Given the description of an element on the screen output the (x, y) to click on. 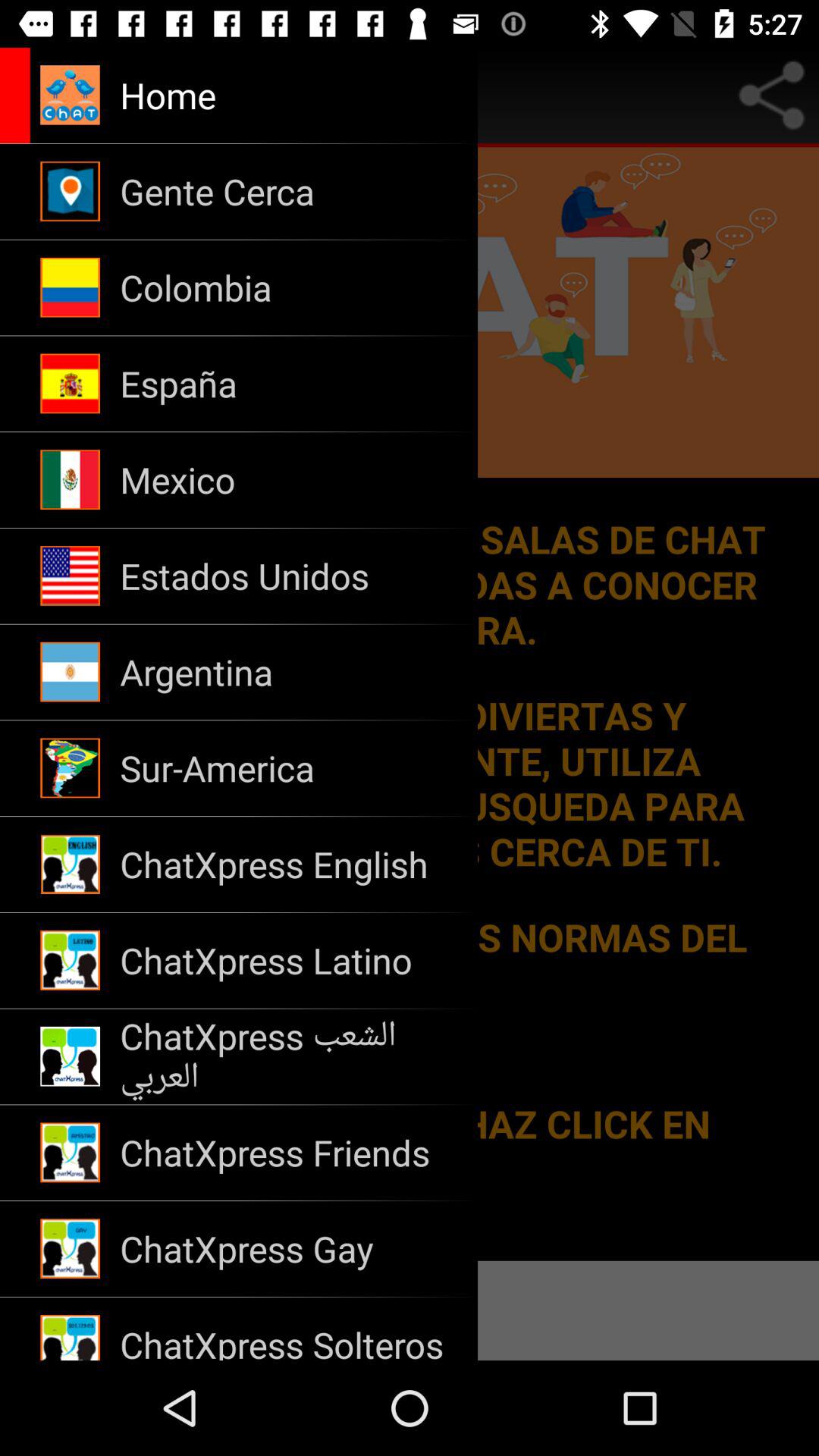
tap estados unidos icon (288, 575)
